Given the description of an element on the screen output the (x, y) to click on. 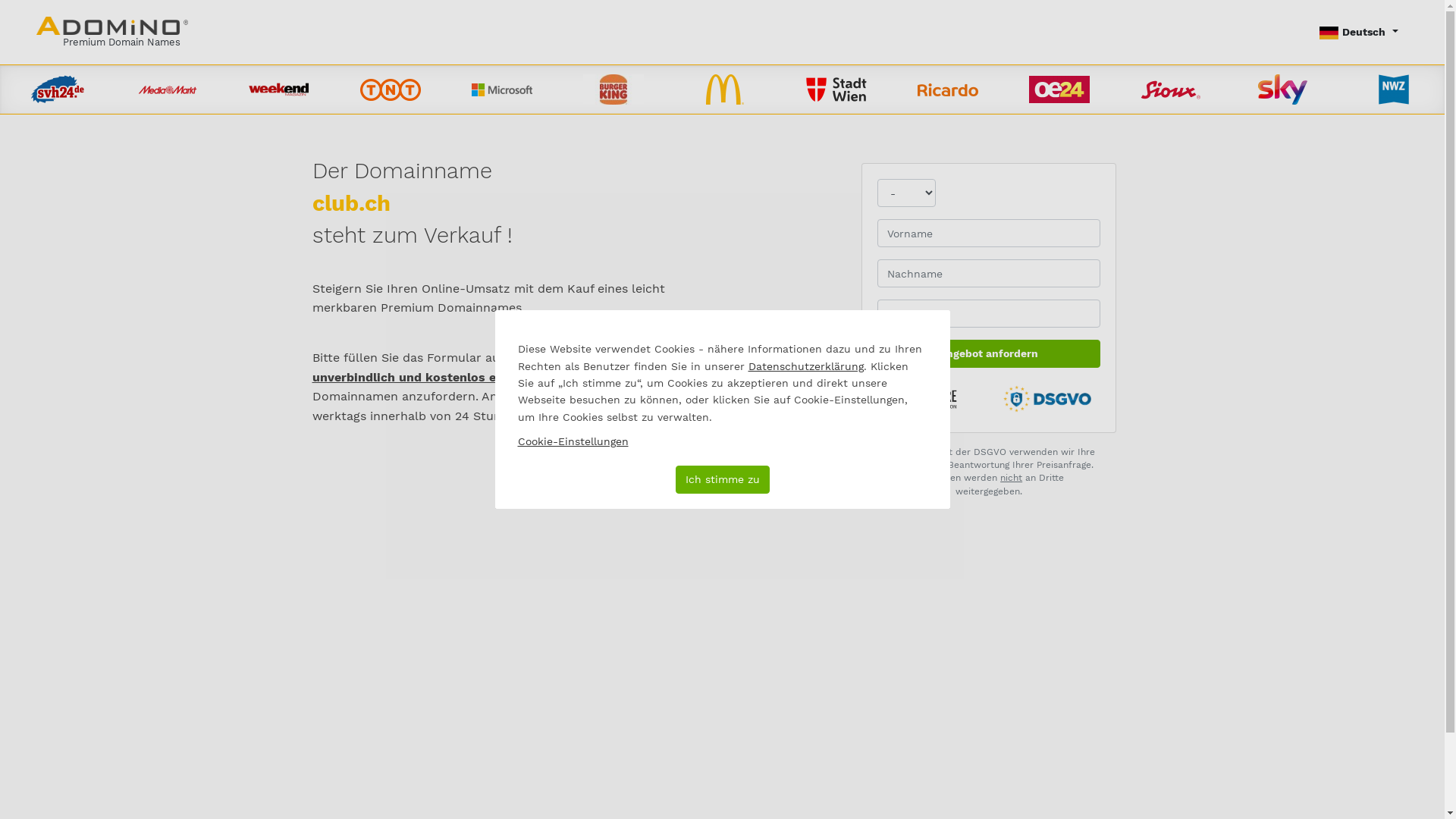
Cookie-Einstellungen Element type: text (572, 441)
Ich stimme zu Element type: text (721, 479)
Premium Domain Names Element type: text (112, 31)
Deutsch Element type: text (1358, 32)
Angebot anfordern Element type: text (989, 353)
